Given the description of an element on the screen output the (x, y) to click on. 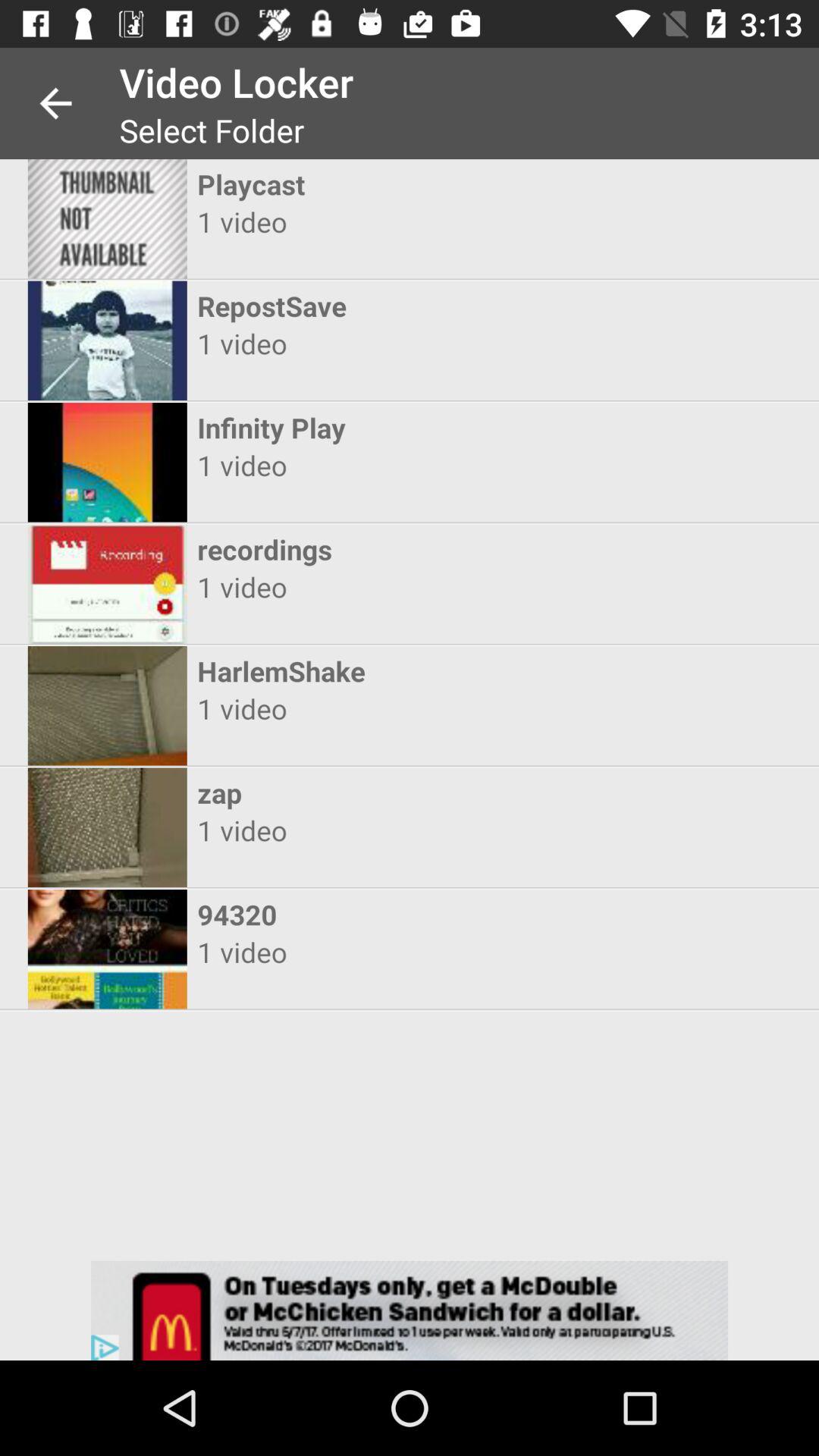
flip to playcast icon (396, 184)
